Given the description of an element on the screen output the (x, y) to click on. 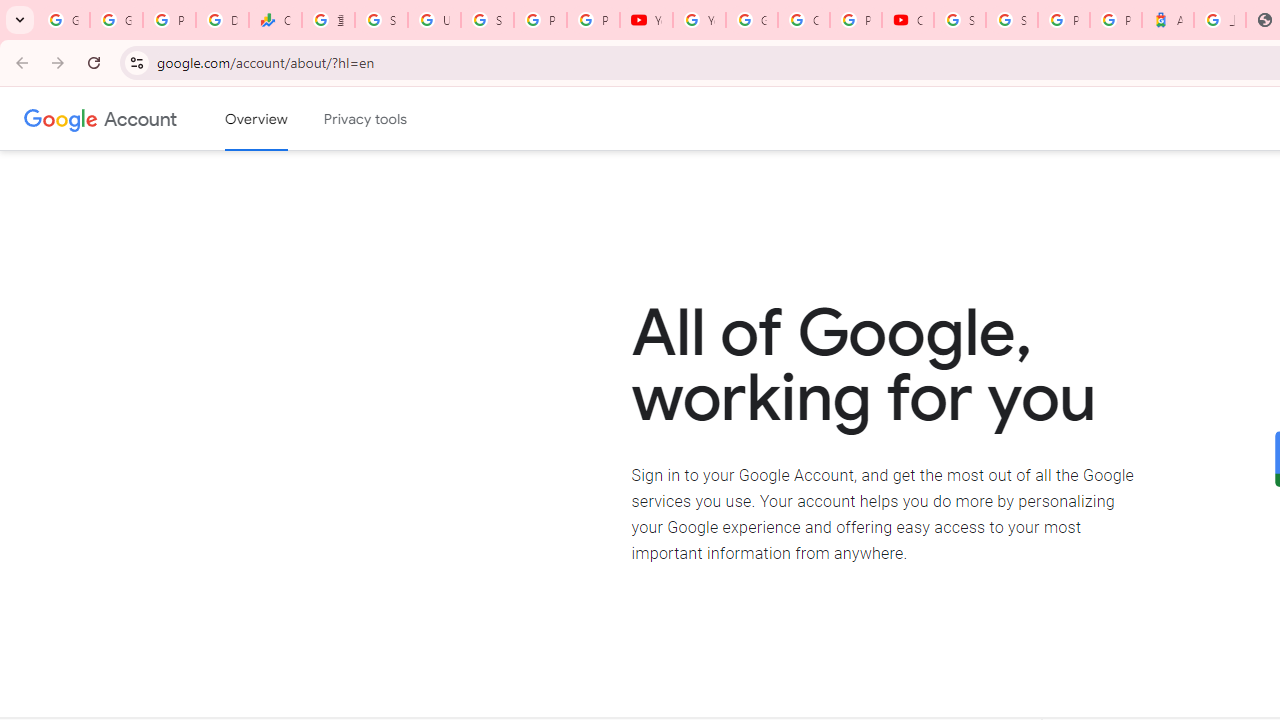
Google Account (140, 118)
Sign in - Google Accounts (959, 20)
Privacy tools (365, 119)
Currencies - Google Finance (275, 20)
Sign in - Google Accounts (381, 20)
Google logo (61, 118)
